Given the description of an element on the screen output the (x, y) to click on. 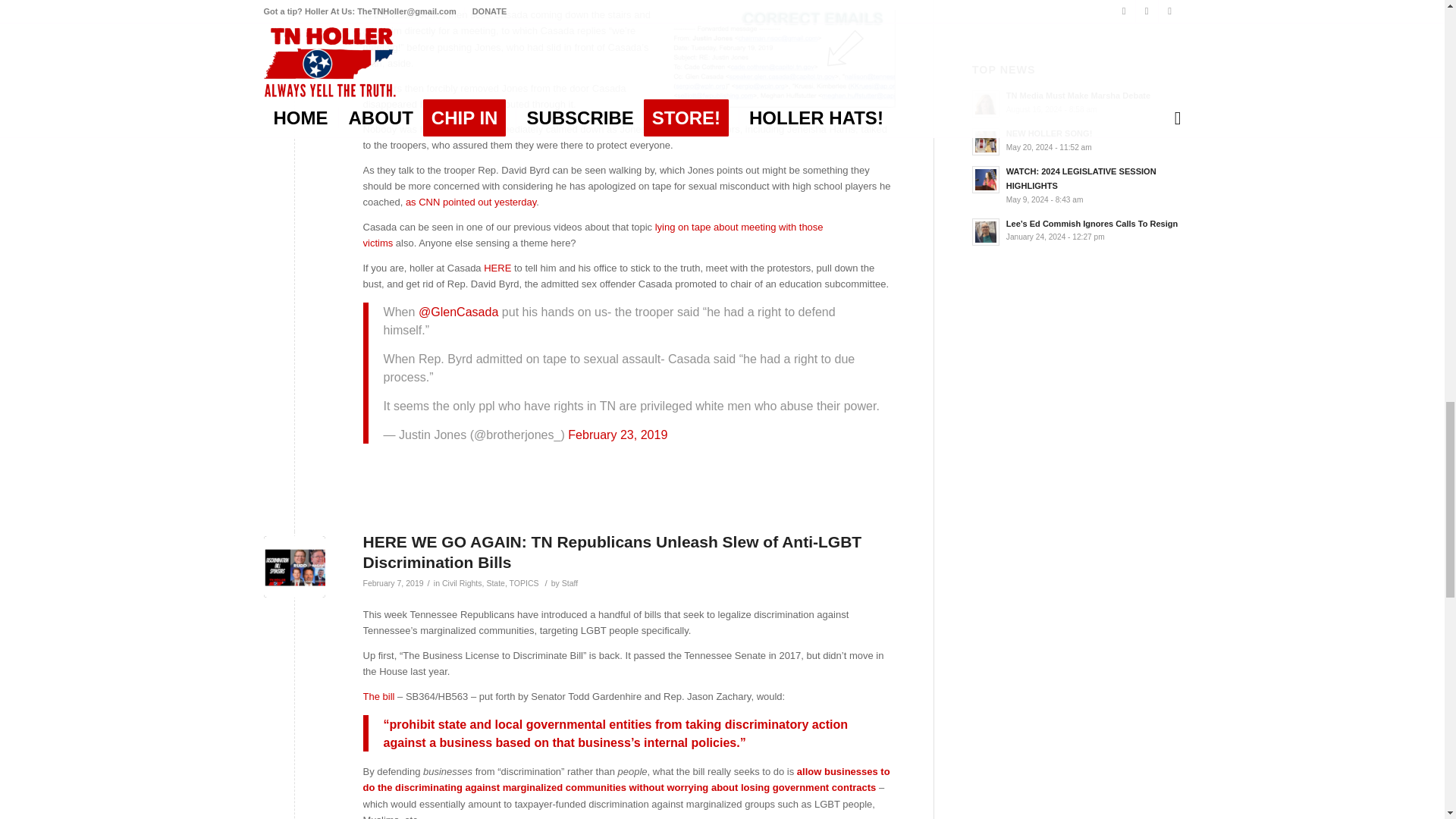
lying on tape about meeting with those victims (592, 234)
February 23, 2019 (616, 434)
as CNN pointed out yesterday (470, 202)
HERE (497, 267)
